Given the description of an element on the screen output the (x, y) to click on. 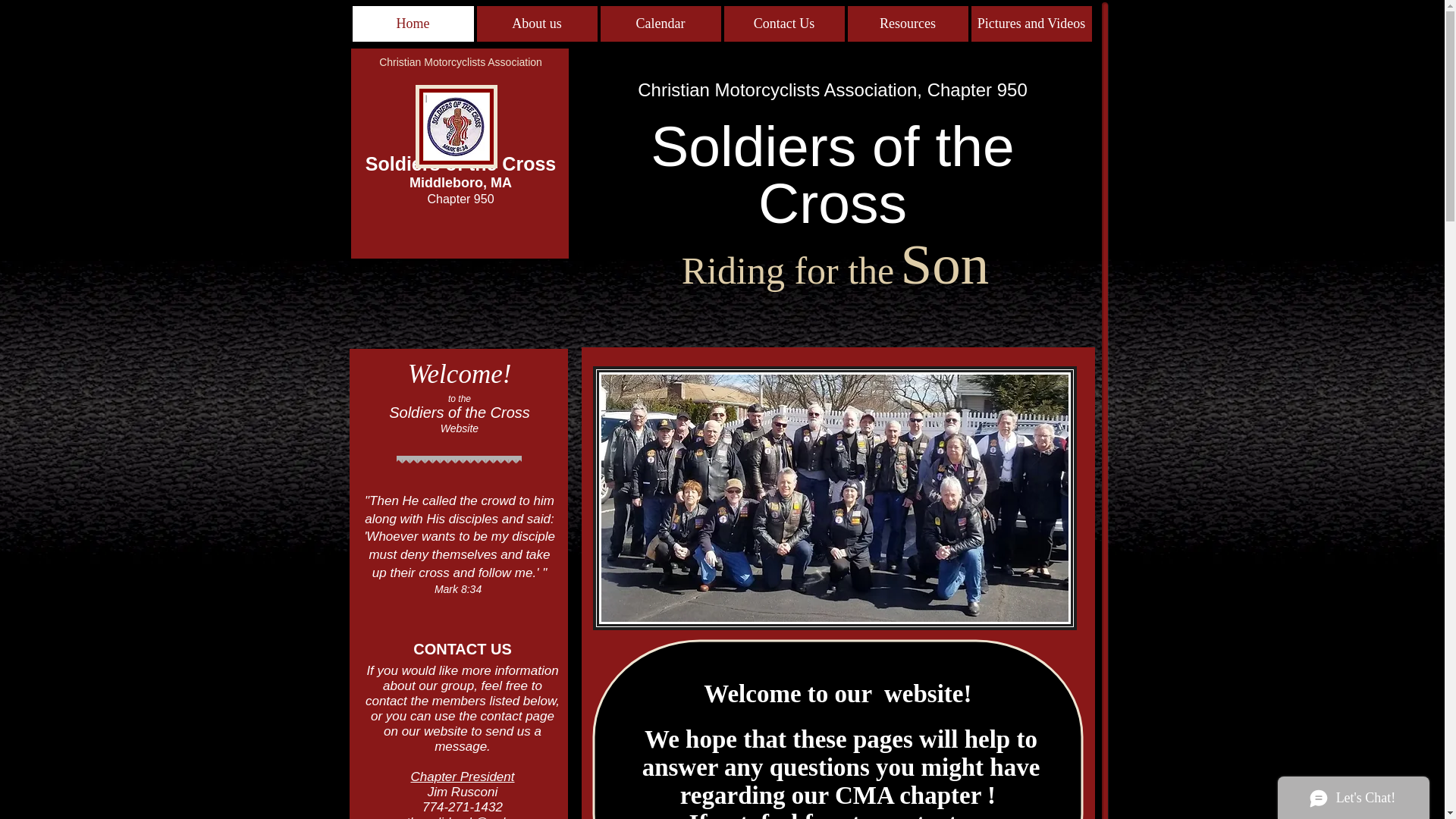
Calendar (659, 23)
Christian Motorcyclists Association, Chapter 950 (832, 89)
CMA Soldiers of the Cross Chapter 950  (455, 126)
Chapter 950 (459, 198)
Resources (907, 23)
Soldiers of the Cross (831, 174)
Christian Motorcyclists Association (459, 61)
Pictures and Videos (1030, 23)
Contact Us (783, 23)
About us (536, 23)
